Given the description of an element on the screen output the (x, y) to click on. 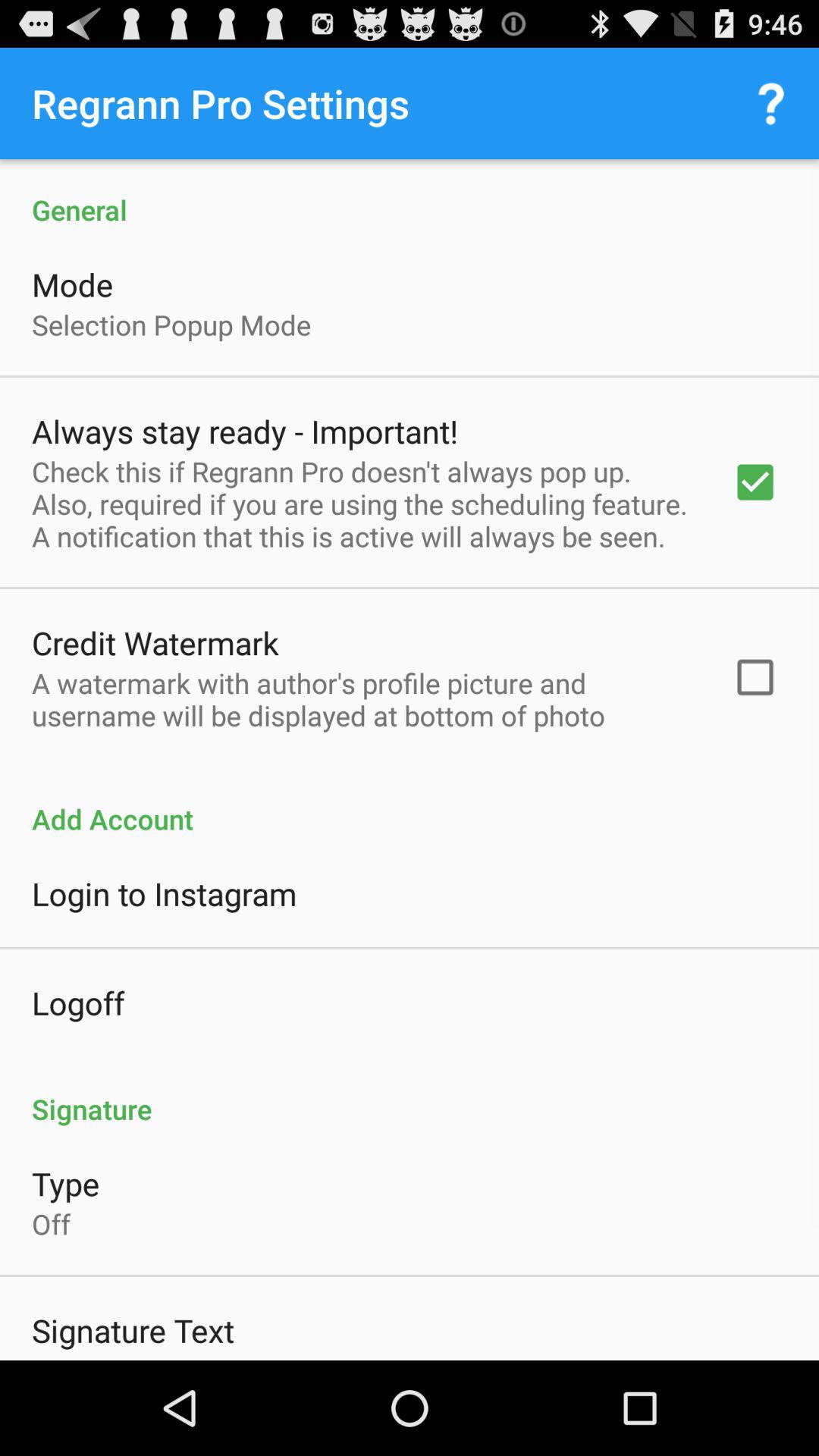
press the always stay ready icon (244, 430)
